Given the description of an element on the screen output the (x, y) to click on. 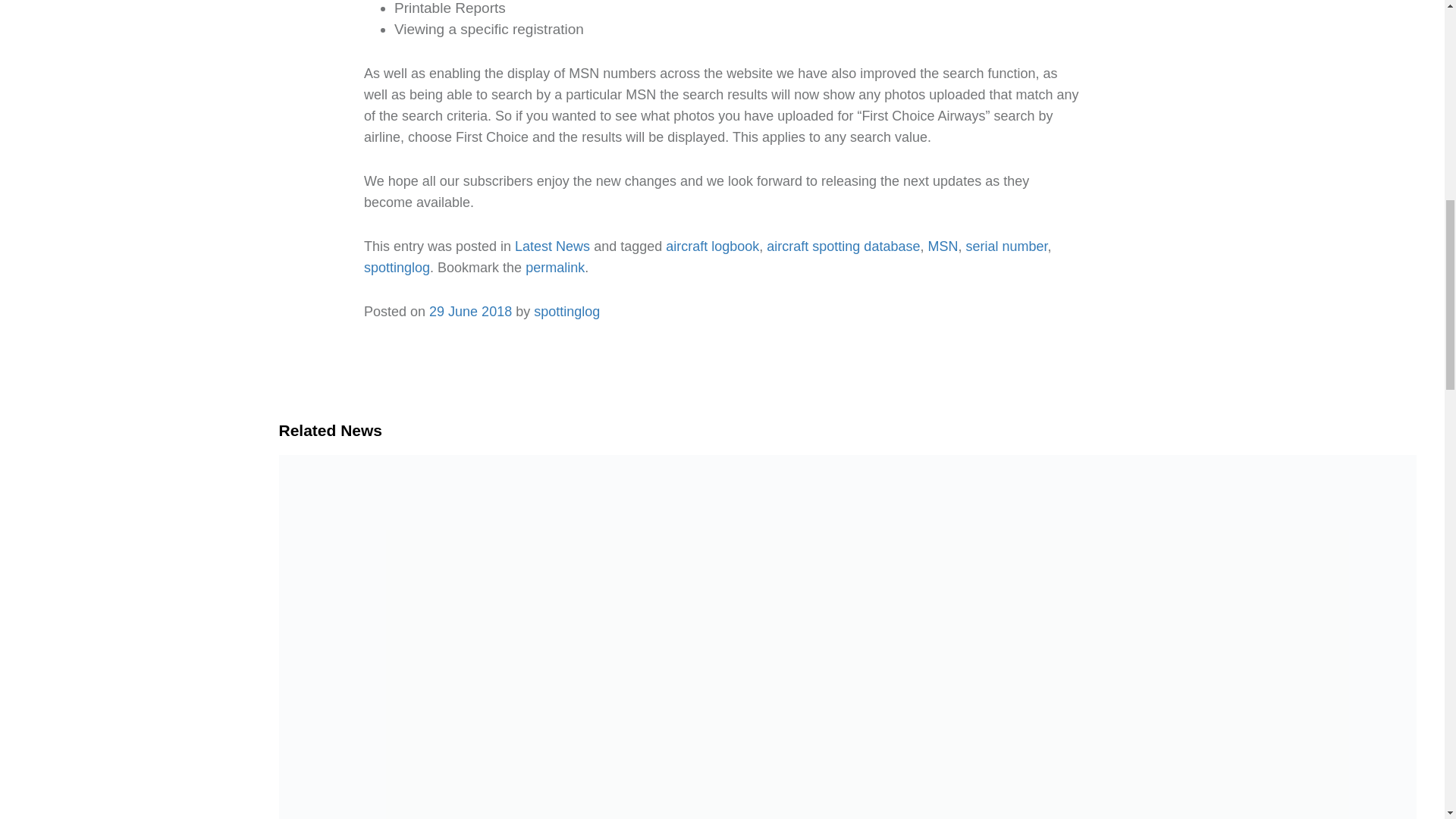
View all posts by spottinglog (566, 311)
2:41 pm (470, 311)
spottinglog (396, 267)
MSN (942, 246)
spottinglog (566, 311)
Latest News (552, 246)
Permalink to New updates enable MSN display and search (555, 267)
aircraft spotting database (843, 246)
29 June 2018 (470, 311)
serial number (1005, 246)
aircraft logbook (711, 246)
permalink (555, 267)
